Given the description of an element on the screen output the (x, y) to click on. 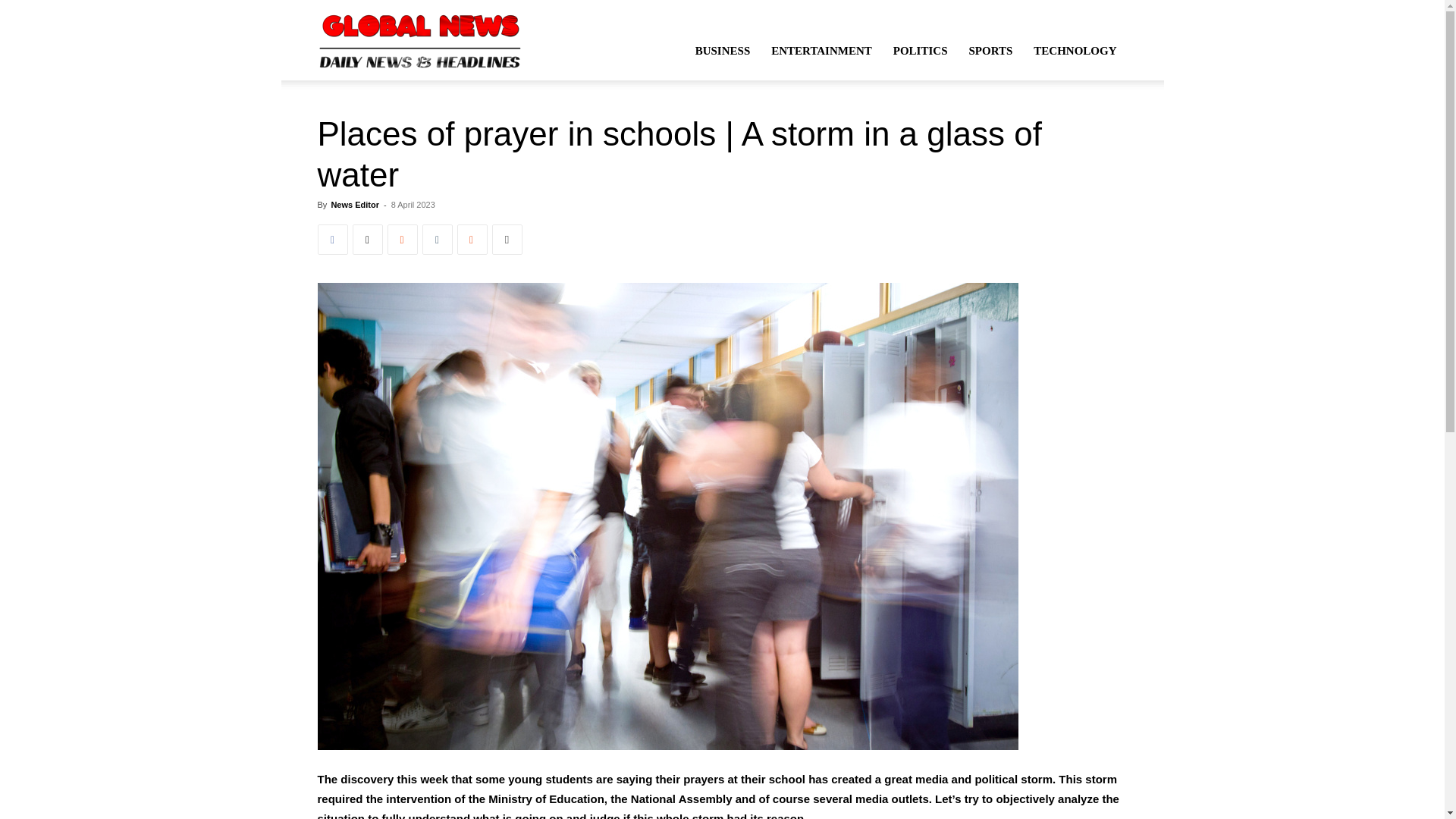
SPORTS (990, 50)
ReddIt (401, 239)
POLITICS (920, 50)
Tumblr (436, 239)
BUSINESS (722, 50)
ENTERTAINMENT (821, 50)
Twitter (366, 239)
News Editor (354, 204)
Mix (471, 239)
The Global Domain News (419, 39)
TECHNOLOGY (1074, 50)
Facebook (332, 239)
Print (506, 239)
